Given the description of an element on the screen output the (x, y) to click on. 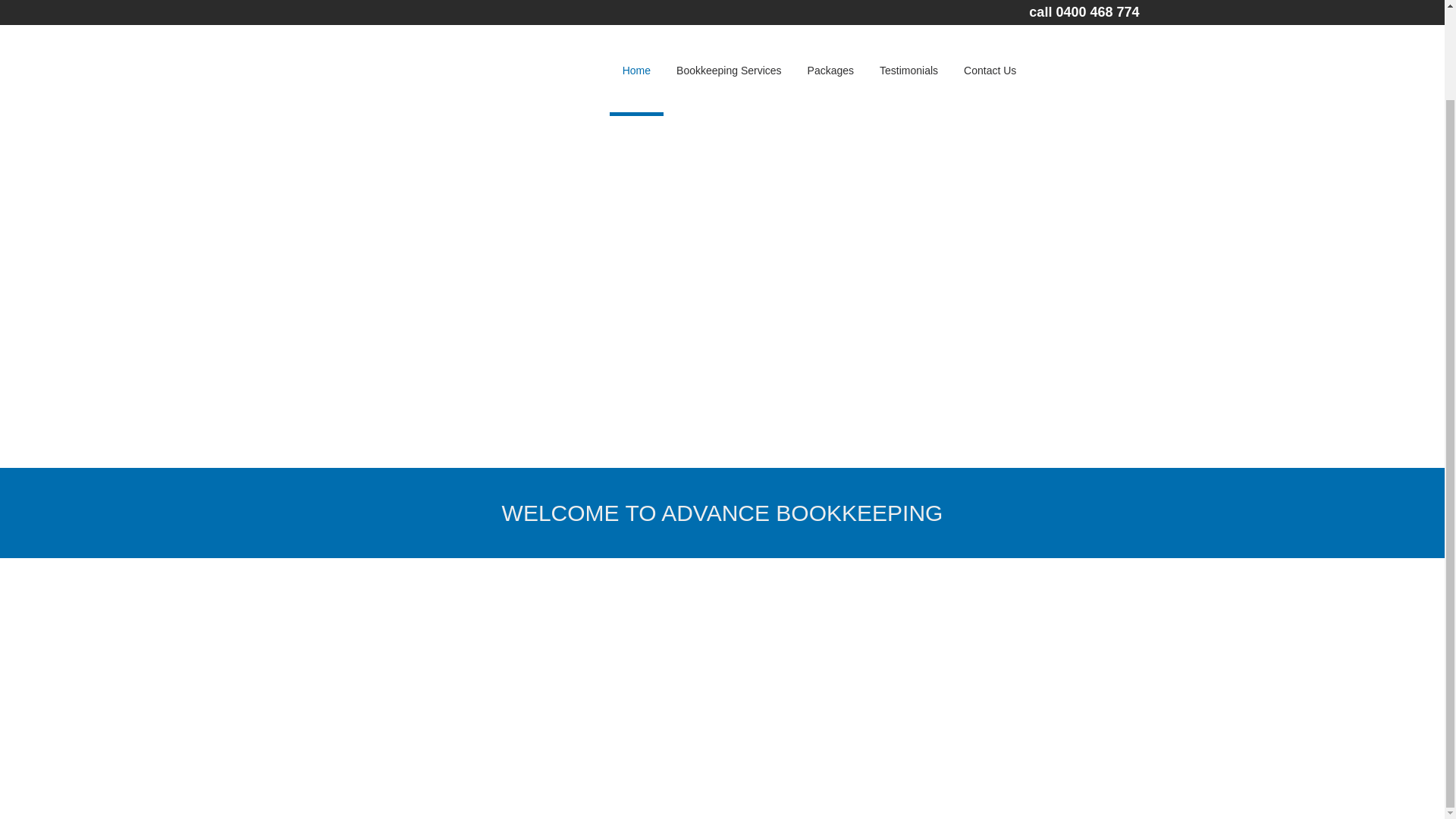
Contact Us (989, 6)
Home (636, 6)
Testimonials (908, 6)
Packages (830, 6)
Bookkeeping Services (728, 6)
